Given the description of an element on the screen output the (x, y) to click on. 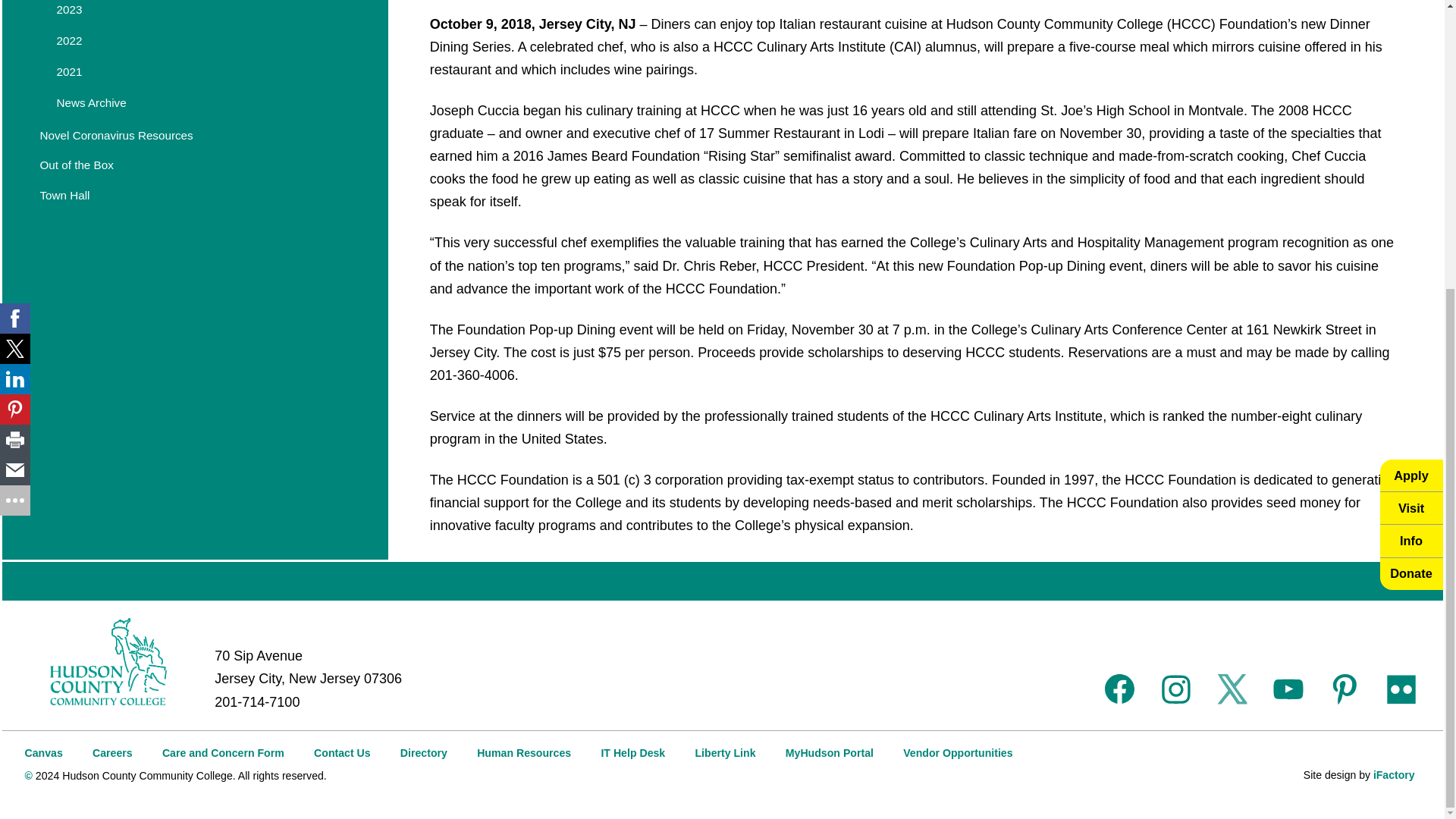
youtube (1287, 689)
instagram (1175, 689)
Print (15, 8)
flickr (1401, 689)
More sharing options (15, 61)
facebook (1120, 689)
twitter (1232, 689)
pinterest (1344, 689)
IT Help Desk (632, 752)
Email (15, 31)
